Given the description of an element on the screen output the (x, y) to click on. 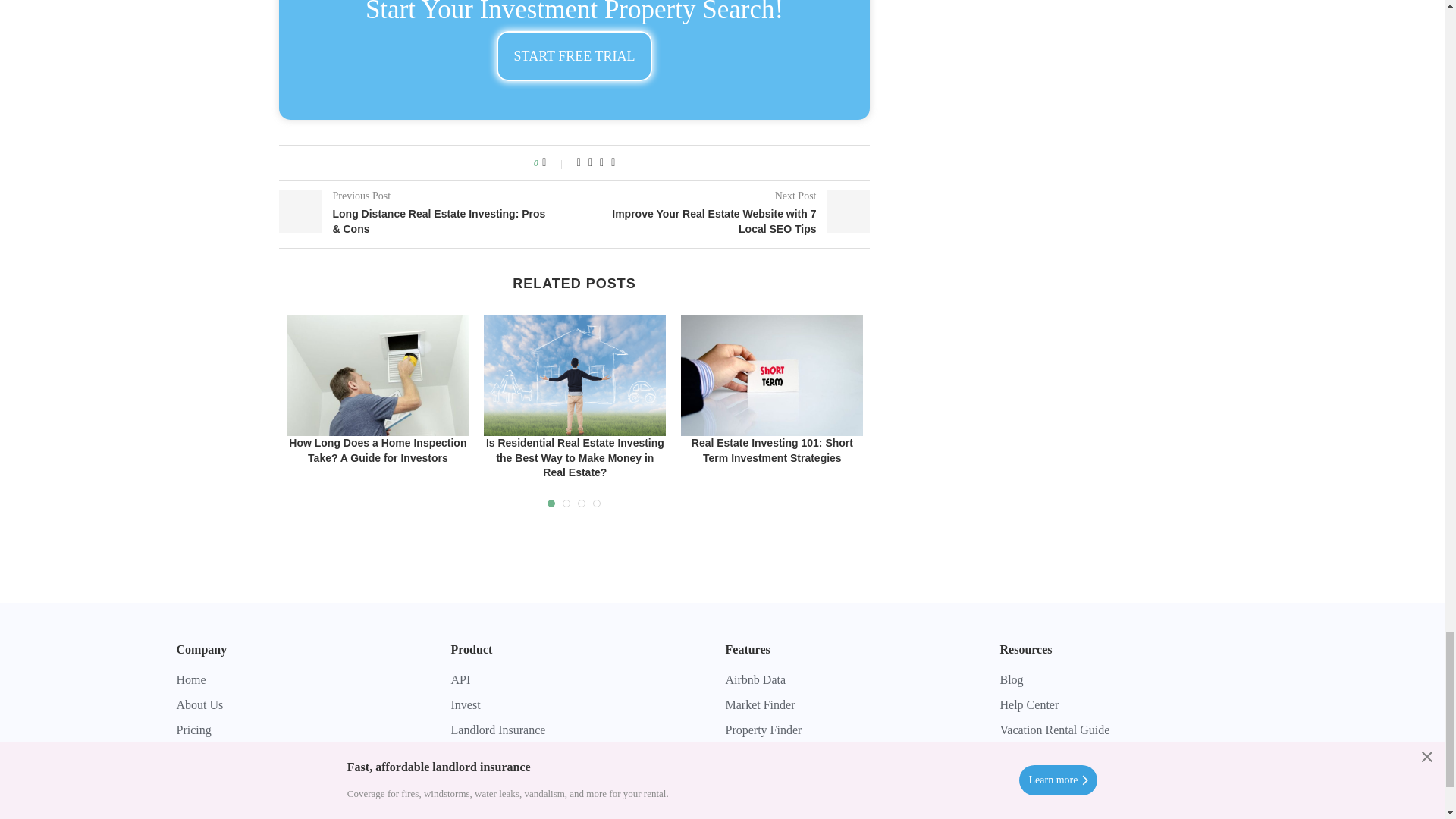
Like (553, 162)
How Long Does a Home Inspection Take? A Guide for Investors (377, 374)
Real Estate Investing 101: Short Term Investment Strategies (772, 374)
